Given the description of an element on the screen output the (x, y) to click on. 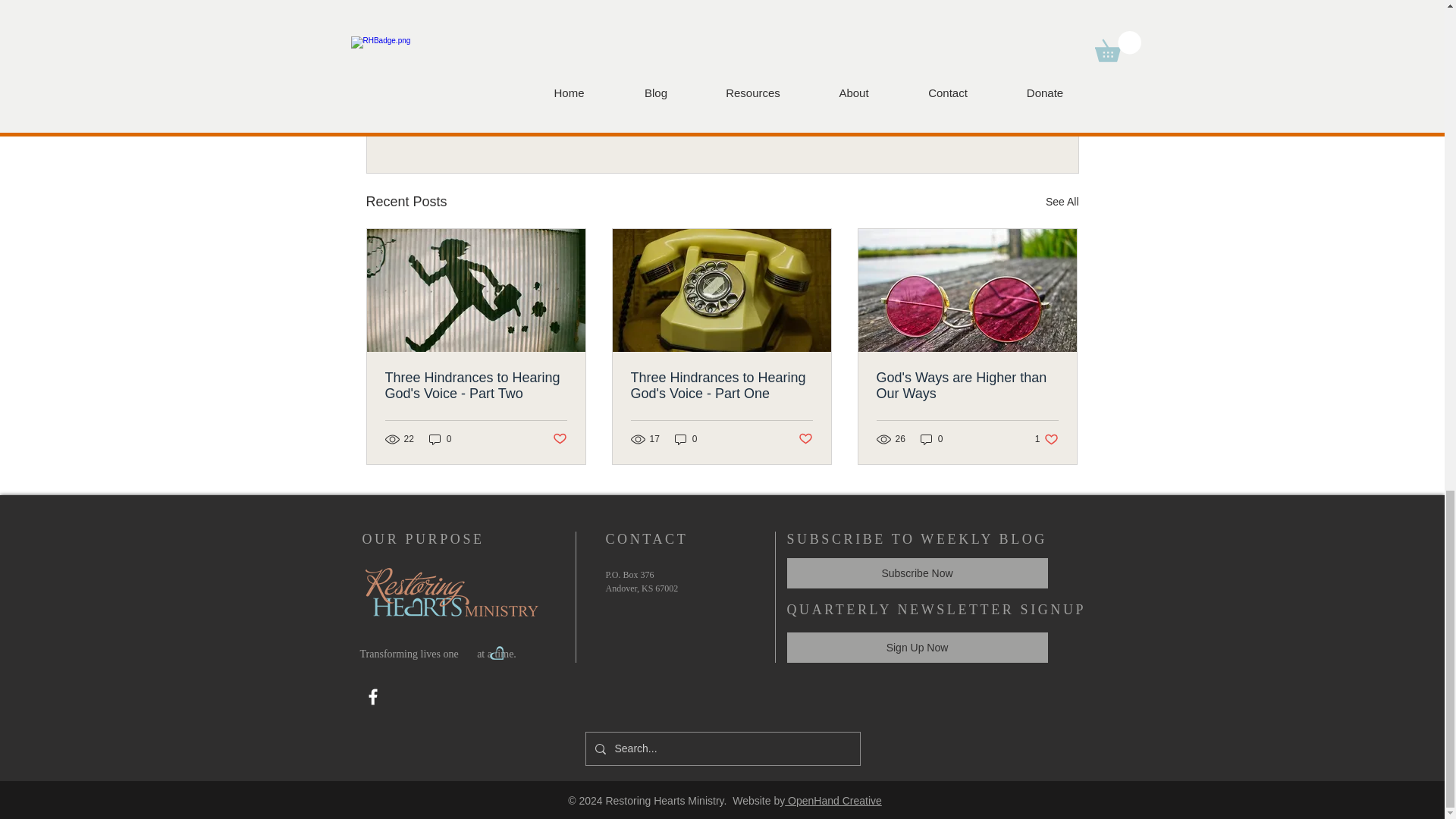
fear of man (622, 15)
Three Hindrances to Hearing God's Voice - Part One (721, 386)
0 (440, 439)
transparent (861, 15)
authenticity (990, 119)
Three Hindrances to Hearing God's Voice - Part Two (781, 15)
vulnerability (476, 386)
0 (478, 15)
integrity (685, 439)
